Given the description of an element on the screen output the (x, y) to click on. 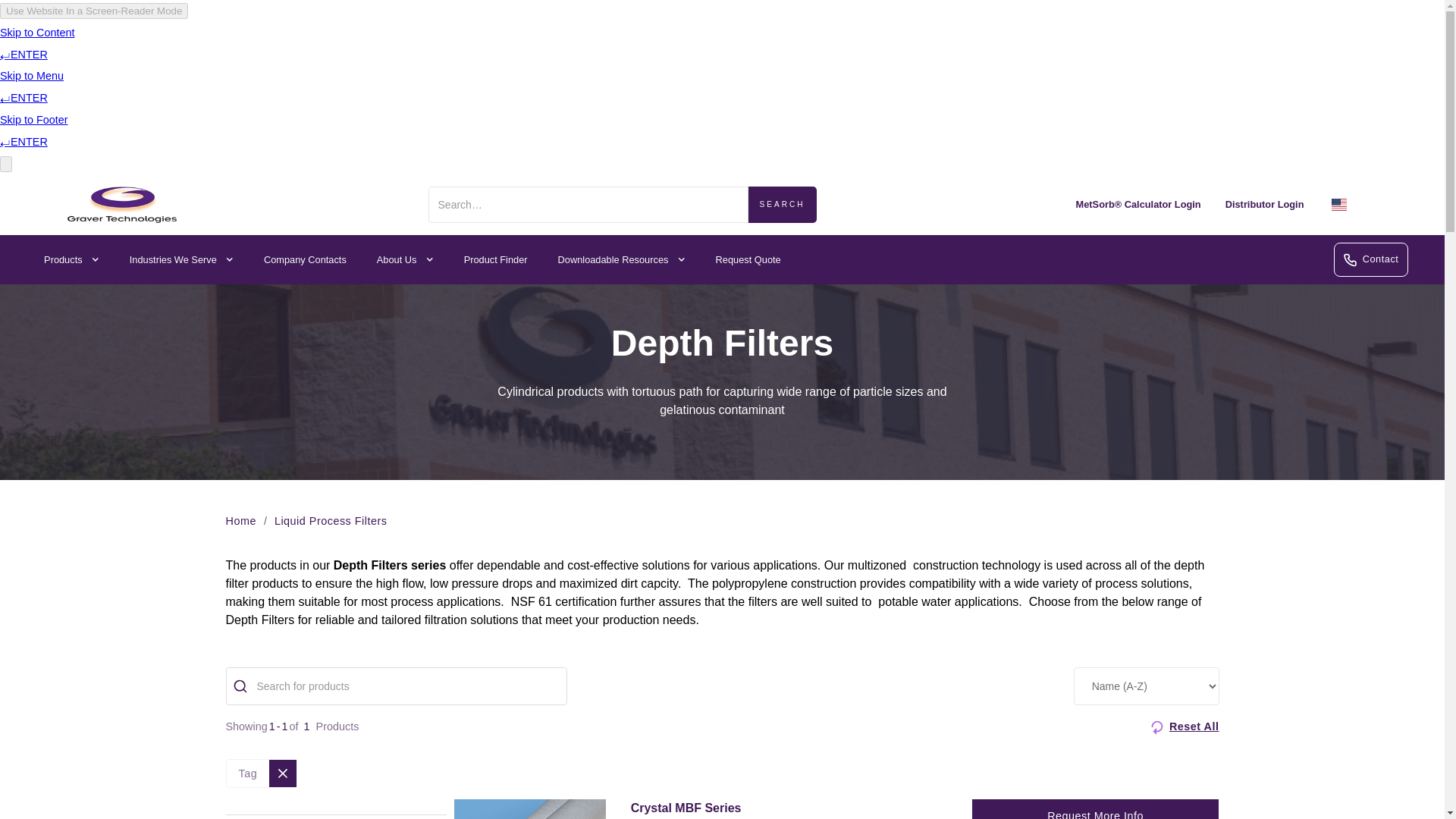
Search (782, 204)
Distributor Login (1264, 204)
Search (782, 204)
Search (782, 204)
